Given the description of an element on the screen output the (x, y) to click on. 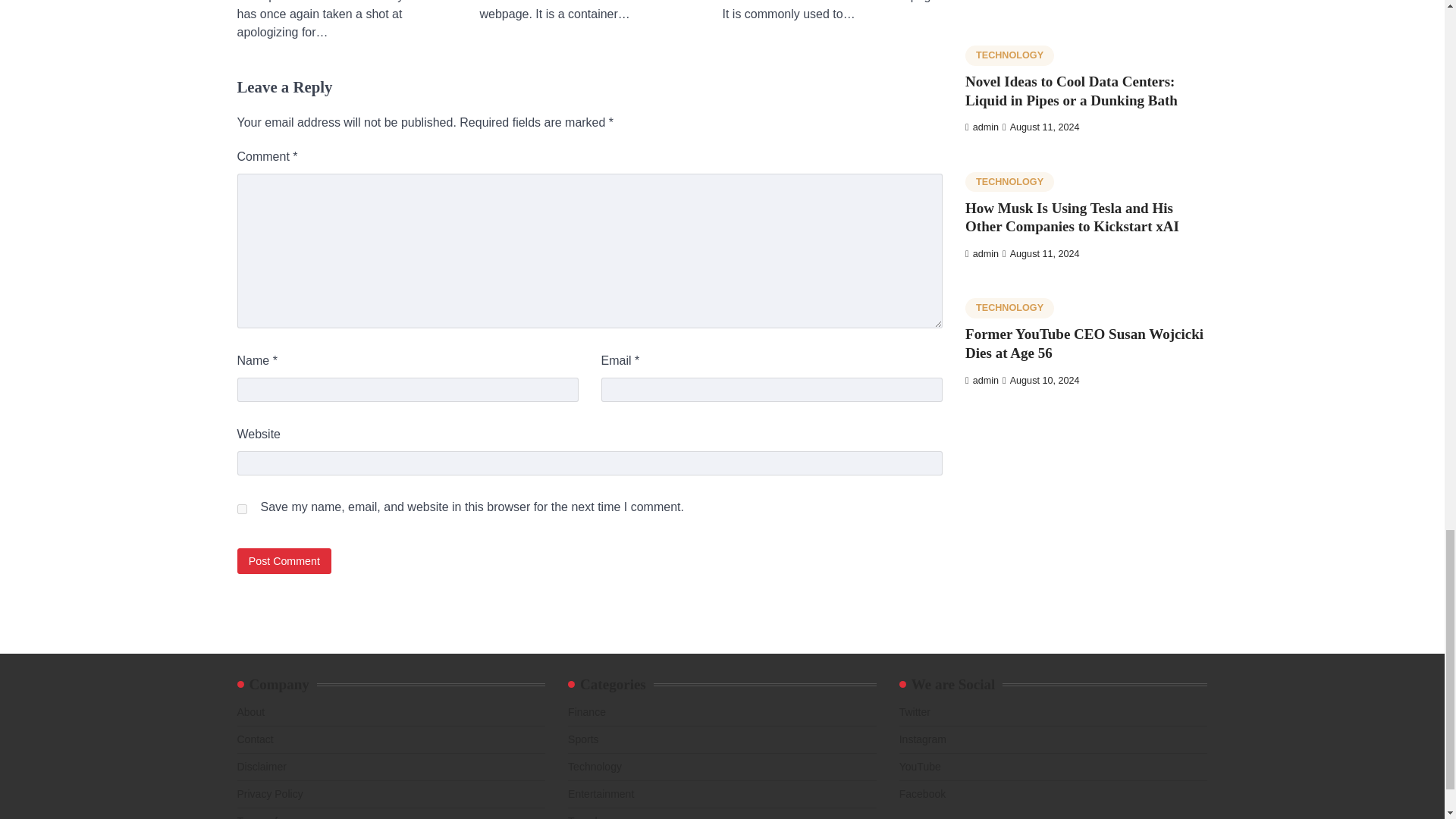
Post Comment (283, 560)
yes (240, 509)
Post Comment (283, 560)
